Given the description of an element on the screen output the (x, y) to click on. 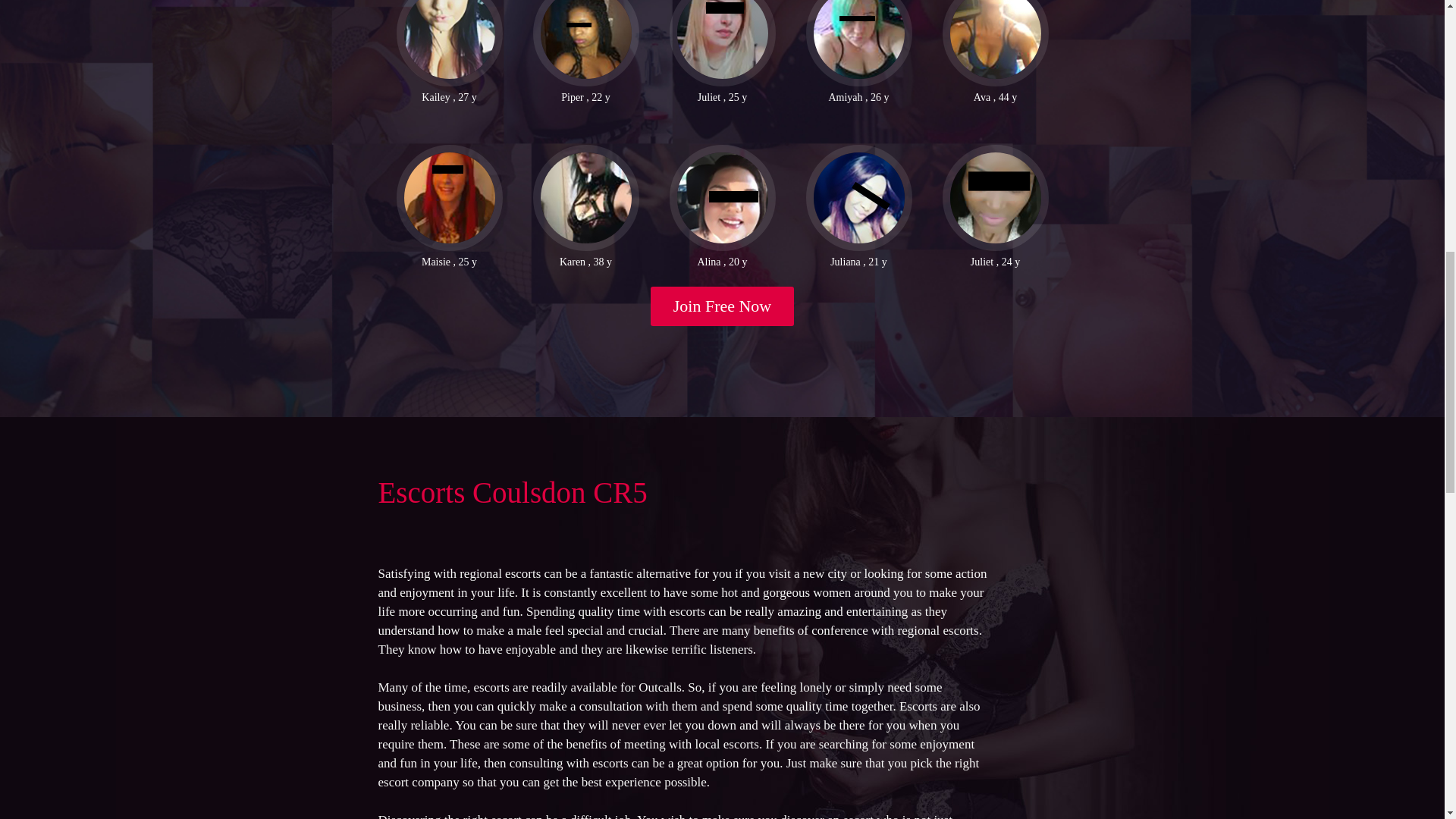
Join Free Now (722, 305)
Escorts Coulsdon CR5 (511, 491)
Join (722, 305)
